Given the description of an element on the screen output the (x, y) to click on. 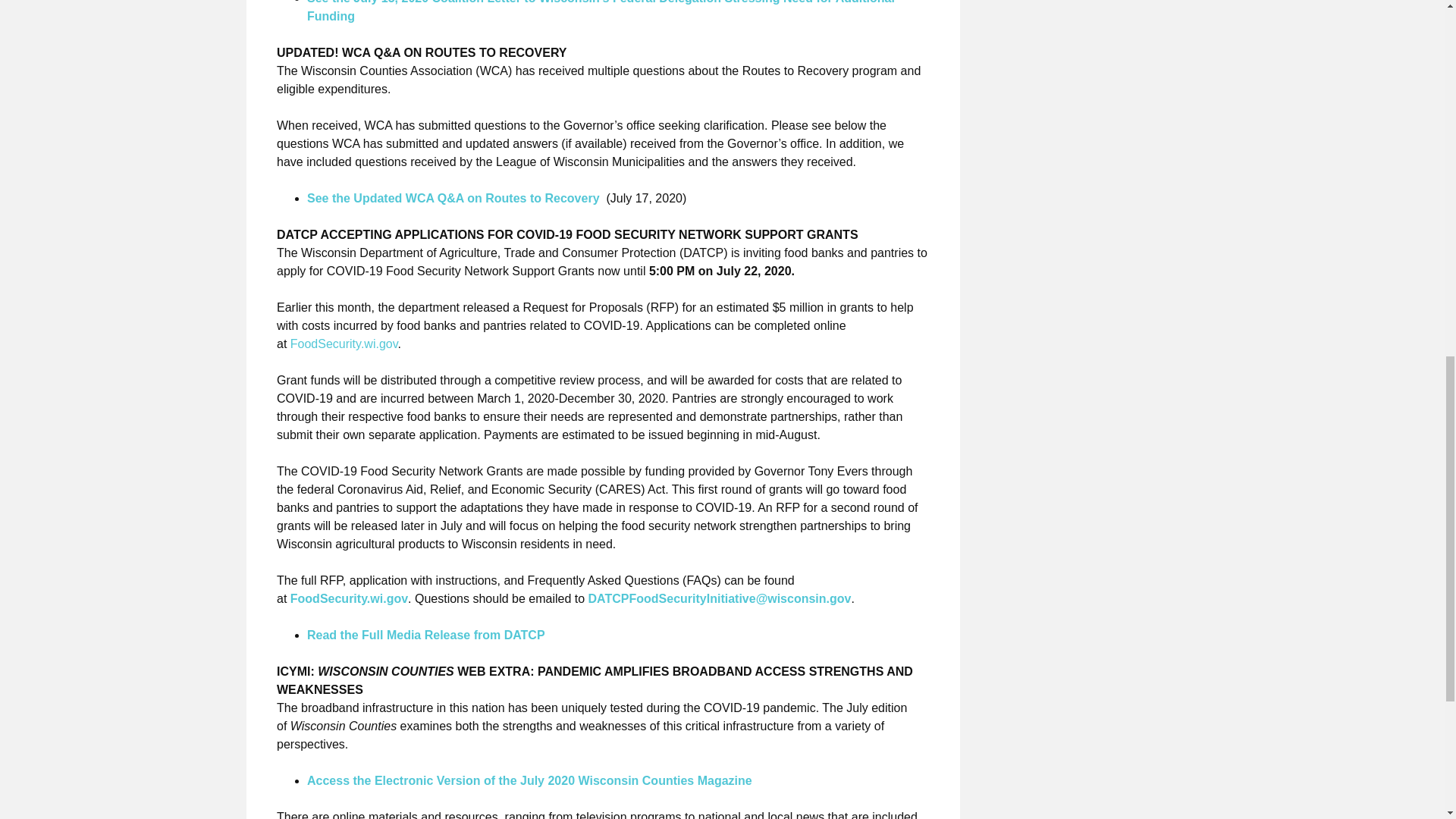
FoodSecurity.wi.gov (343, 343)
Read the Full Media Release from DATCP (425, 634)
FoodSecurity.wi.gov (348, 598)
